Given the description of an element on the screen output the (x, y) to click on. 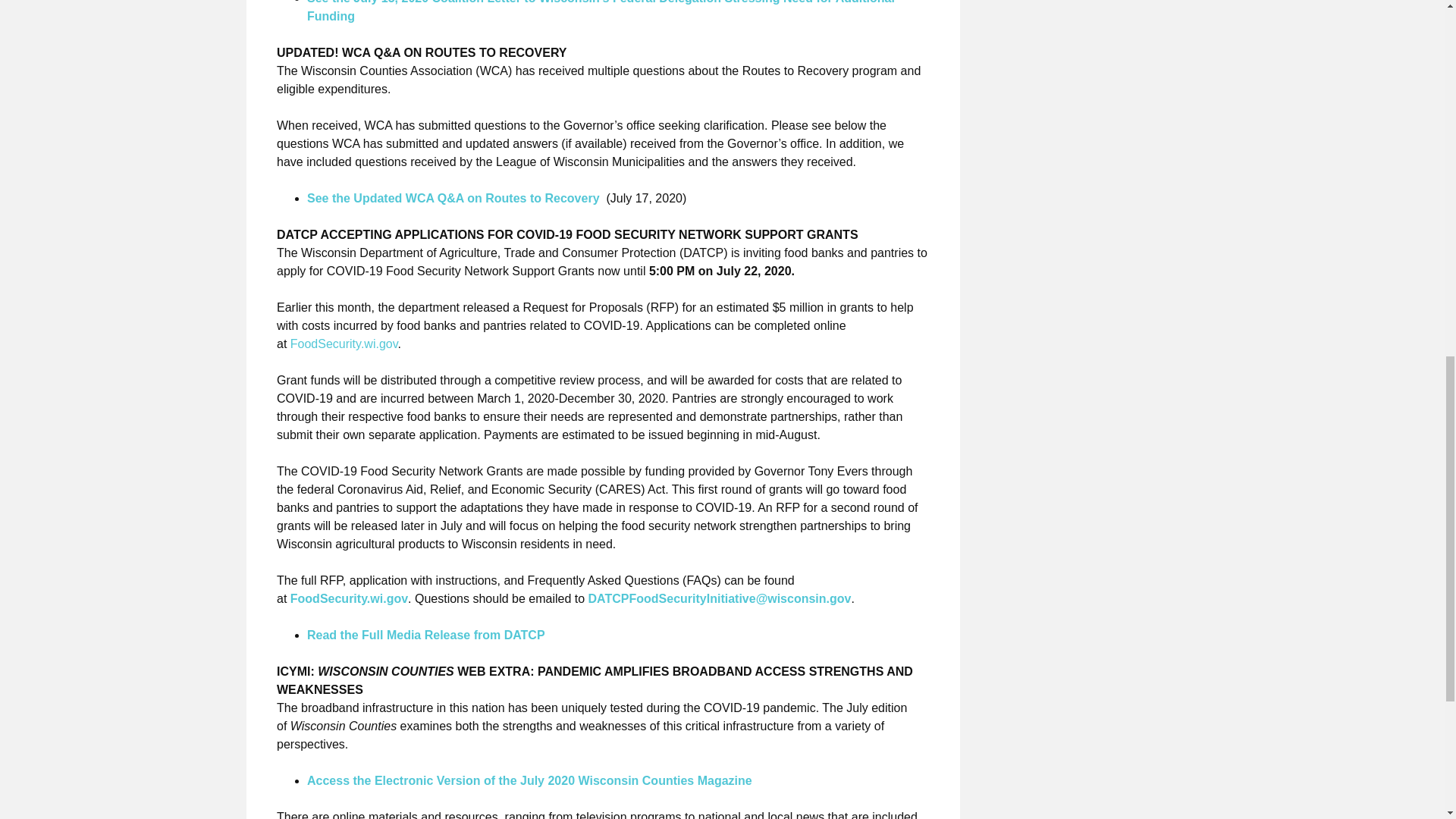
FoodSecurity.wi.gov (343, 343)
Read the Full Media Release from DATCP (425, 634)
FoodSecurity.wi.gov (348, 598)
